Given the description of an element on the screen output the (x, y) to click on. 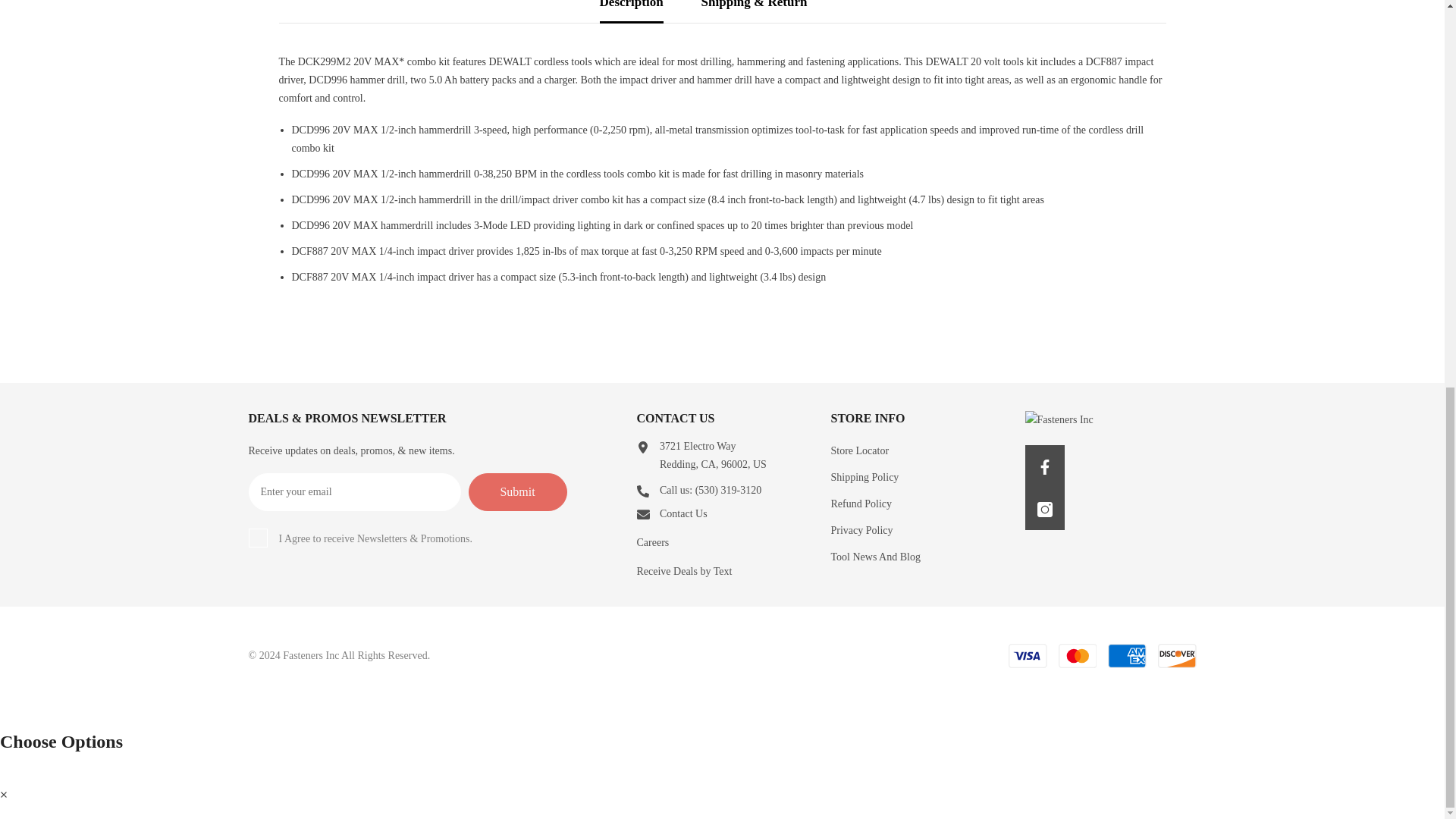
Mastercard (1077, 655)
American Express (1126, 655)
Discover (1176, 655)
Visa (1027, 655)
